Given the description of an element on the screen output the (x, y) to click on. 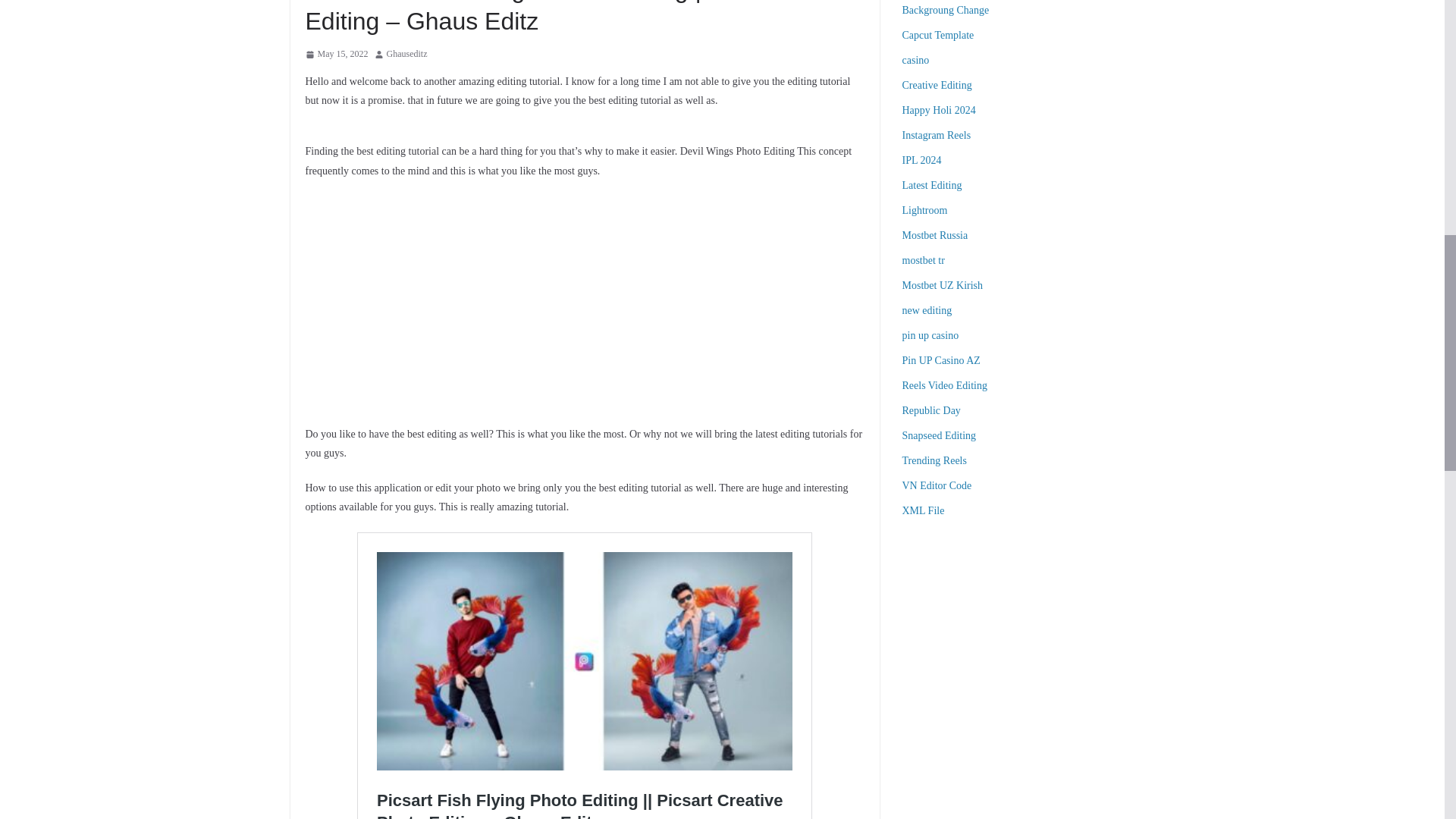
Capcut Template (938, 34)
Creative Editing (937, 84)
Ghauseditz (407, 54)
5:37 pm (336, 54)
Happy Holi 2024 (938, 110)
Advertisement (583, 302)
Advertisement (1028, 642)
May 15, 2022 (336, 54)
casino (916, 60)
Ghauseditz (407, 54)
Backgroung Change (946, 9)
